Given the description of an element on the screen output the (x, y) to click on. 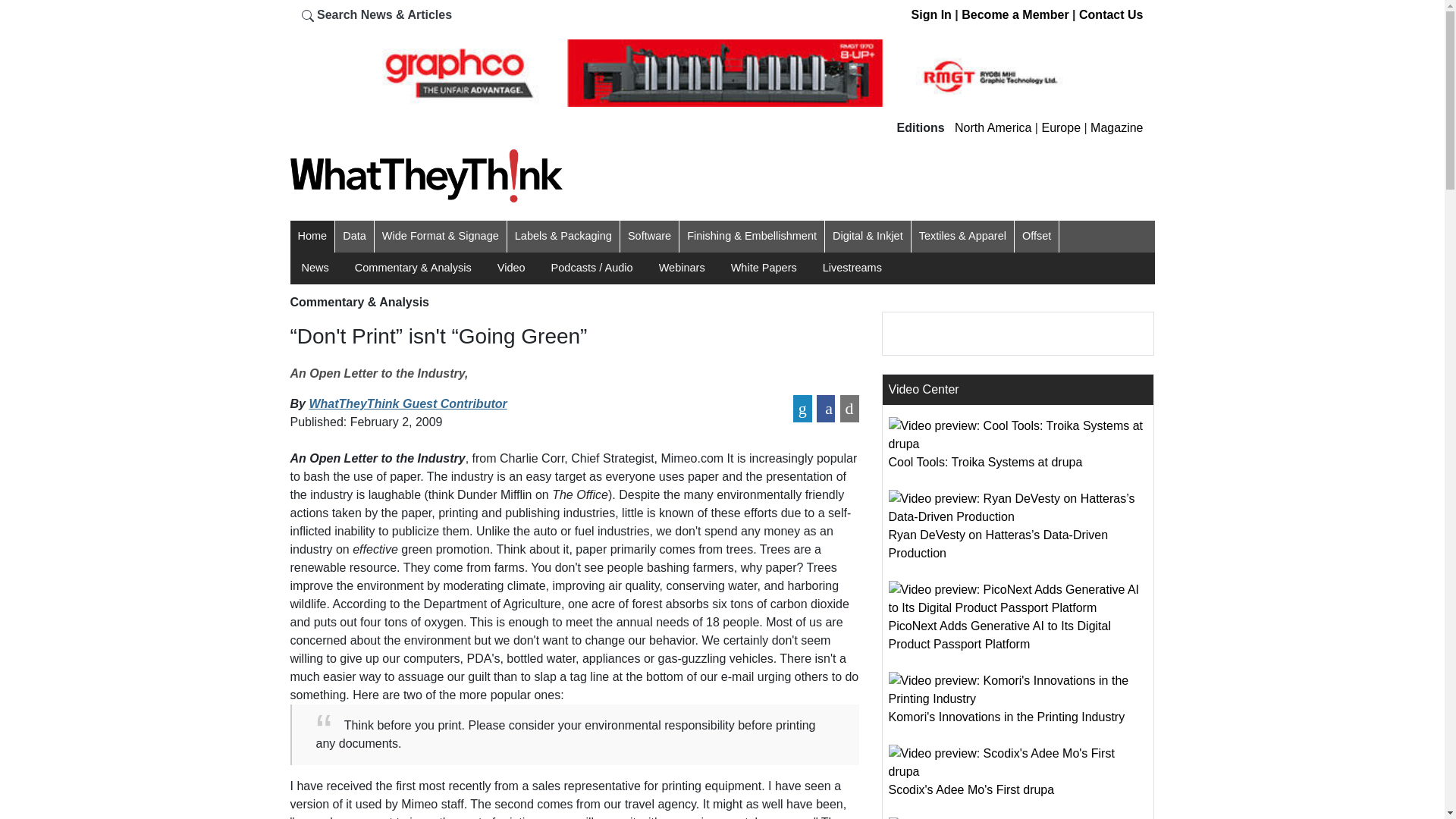
Software (649, 236)
Video (511, 267)
Home (311, 236)
White Papers (763, 267)
Livestreams (852, 267)
North America (992, 127)
News (315, 267)
Webinars (681, 267)
Europe (1060, 127)
Become a Member (1014, 14)
Sign In (931, 14)
Data (354, 236)
Contact Us (1110, 14)
Magazine (1116, 127)
